Given the description of an element on the screen output the (x, y) to click on. 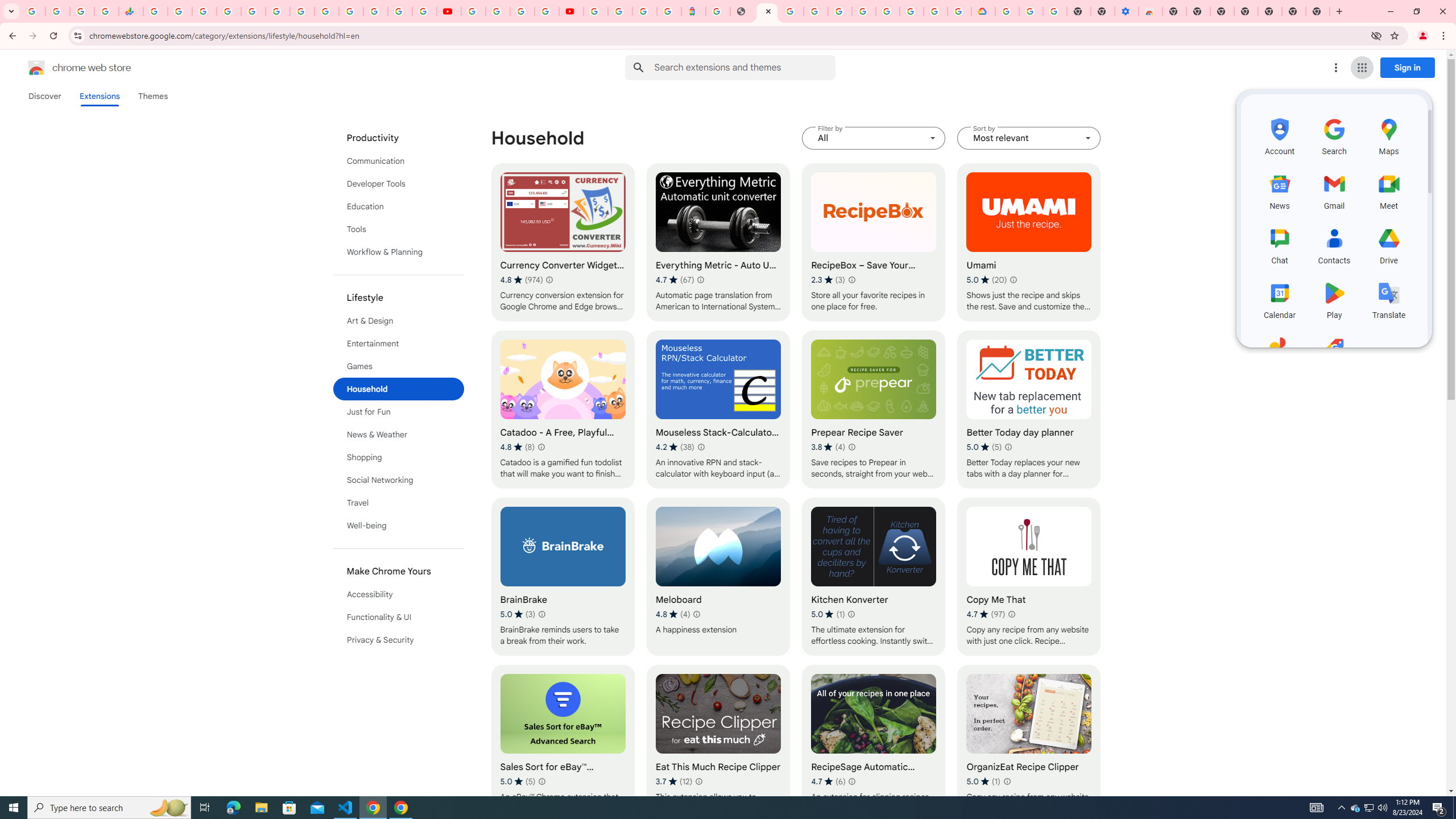
Better Today day planner (1028, 409)
List of categories in Chrome Web Store. (398, 388)
Social Networking (398, 479)
Learn more about results and reviews "BrainBrake" (542, 613)
Workflow & Planning (398, 251)
Filter by All (874, 137)
Just for Fun (398, 411)
Average rating 5 out of 5 stars. 20 ratings. (986, 279)
Average rating 4.8 out of 5 stars. 8 ratings. (517, 446)
Entertainment (398, 343)
